Given the description of an element on the screen output the (x, y) to click on. 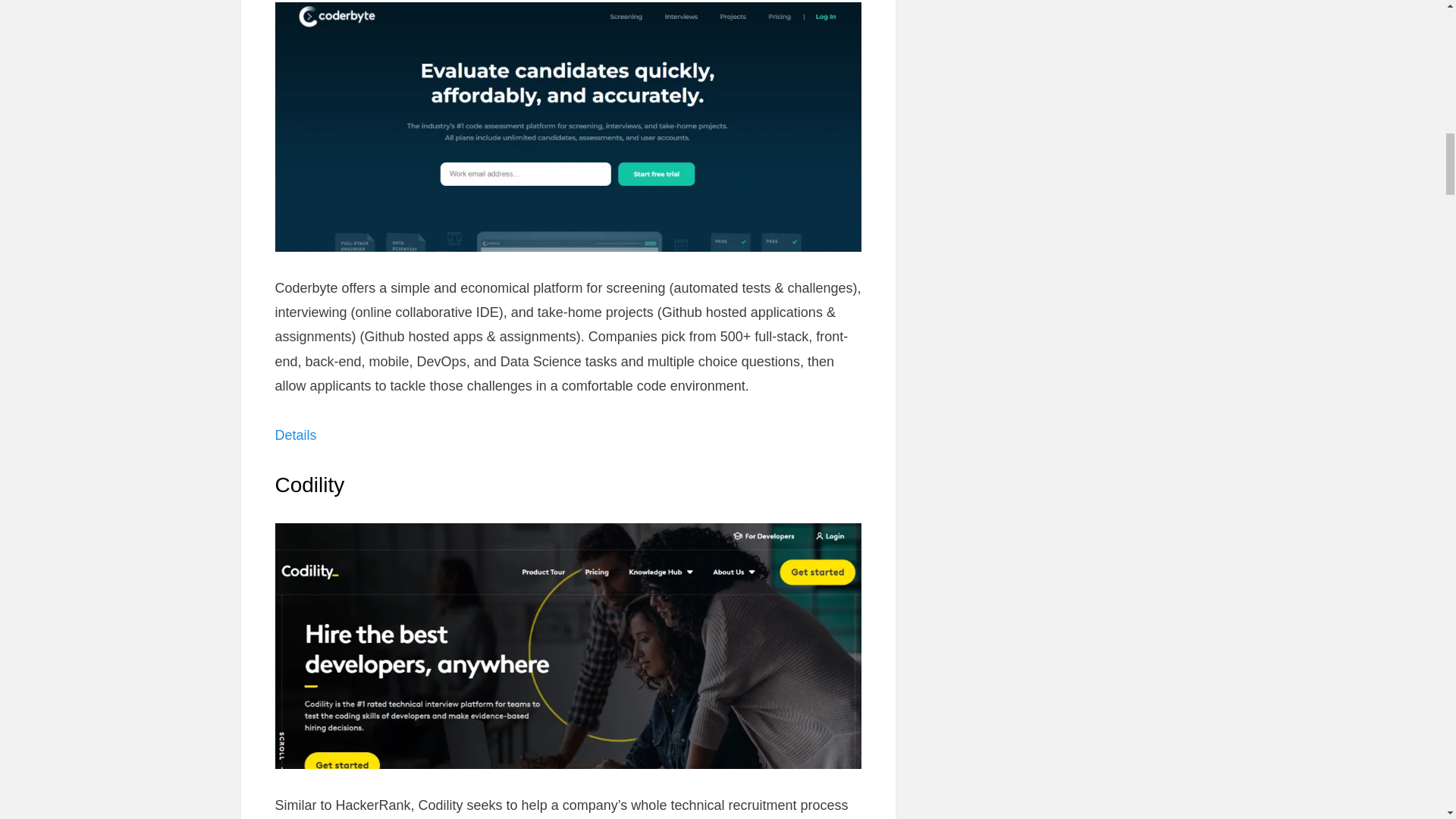
Details (295, 435)
